Given the description of an element on the screen output the (x, y) to click on. 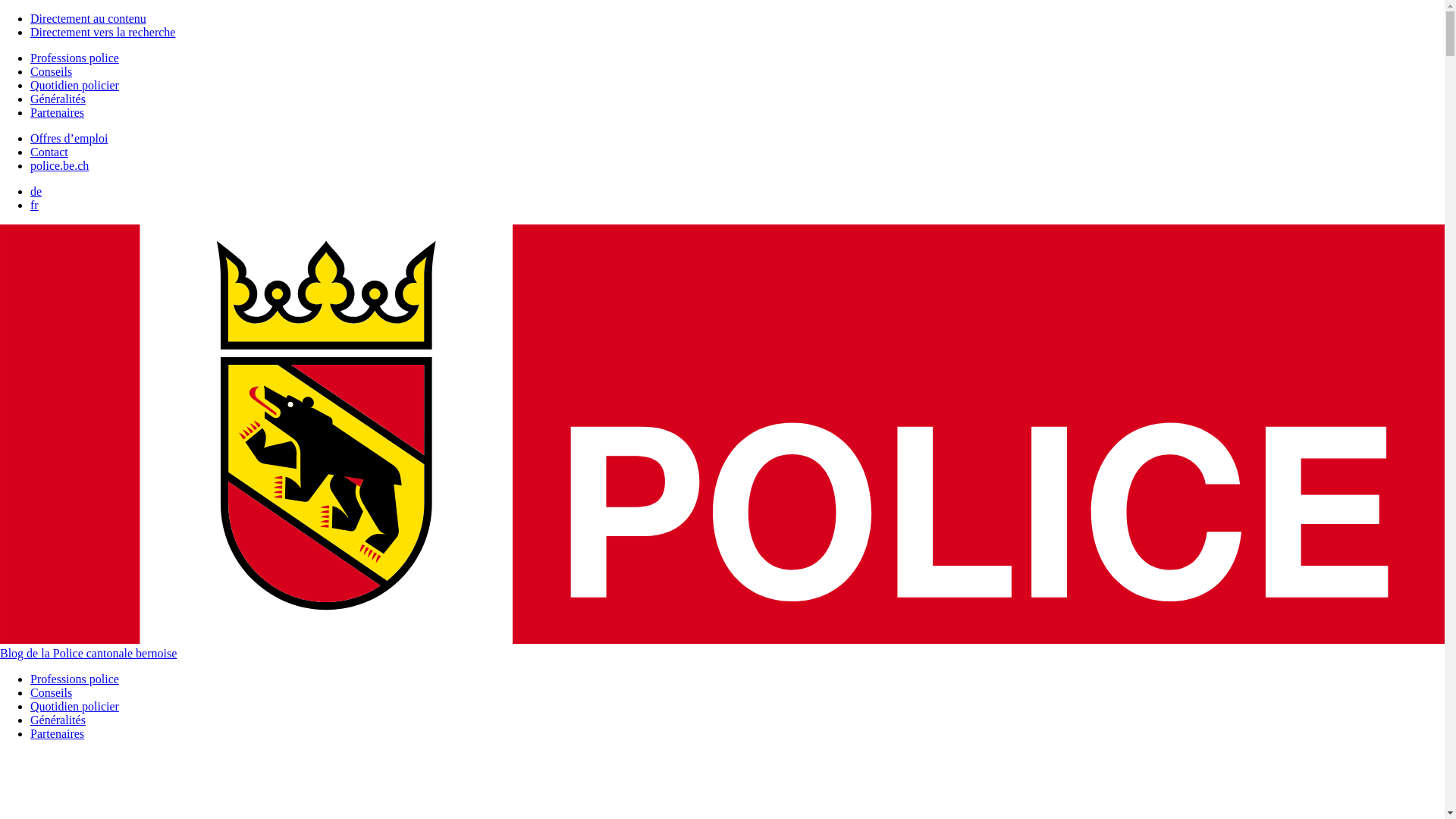
Conseils Element type: text (51, 71)
Quotidien policier Element type: text (74, 84)
Contact Element type: text (49, 151)
Professions police Element type: text (74, 57)
fr Element type: text (34, 204)
Conseils Element type: text (51, 692)
Professions police Element type: text (74, 678)
Blog de la Police cantonale bernoise Element type: text (722, 646)
Partenaires Element type: text (57, 733)
de Element type: text (35, 191)
Directement au contenu Element type: text (88, 18)
police.be.ch Element type: text (59, 165)
Partenaires Element type: text (57, 112)
Quotidien policier Element type: text (74, 705)
Directement vers la recherche Element type: text (102, 31)
